Given the description of an element on the screen output the (x, y) to click on. 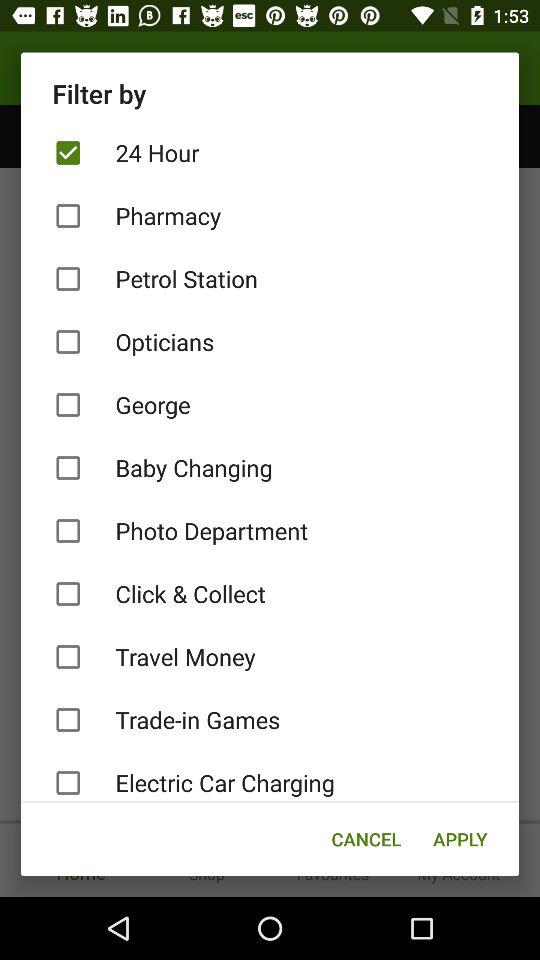
tap the apply item (460, 838)
